Given the description of an element on the screen output the (x, y) to click on. 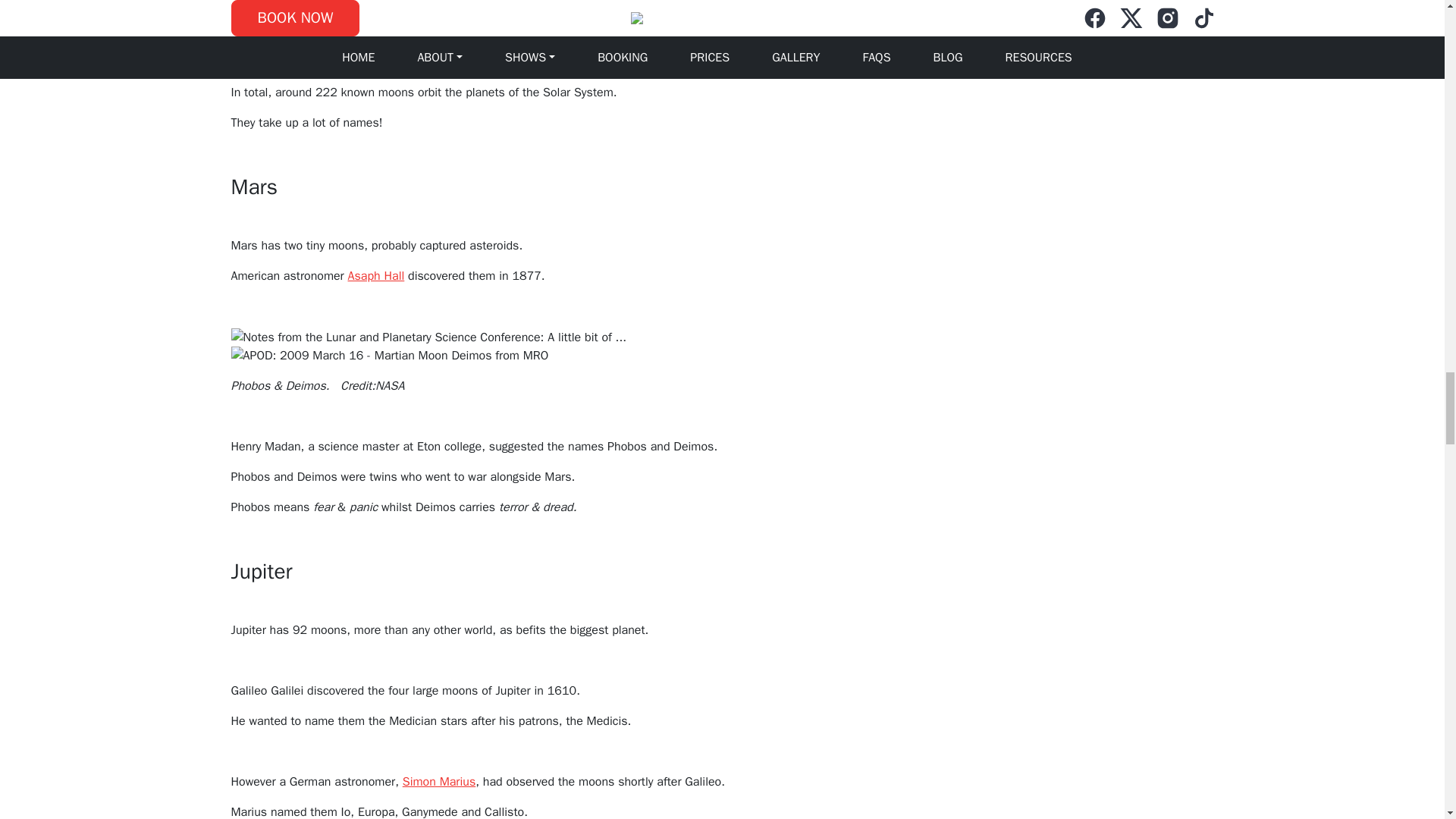
Simon Marius (439, 781)
Asaph Hall (375, 275)
